Given the description of an element on the screen output the (x, y) to click on. 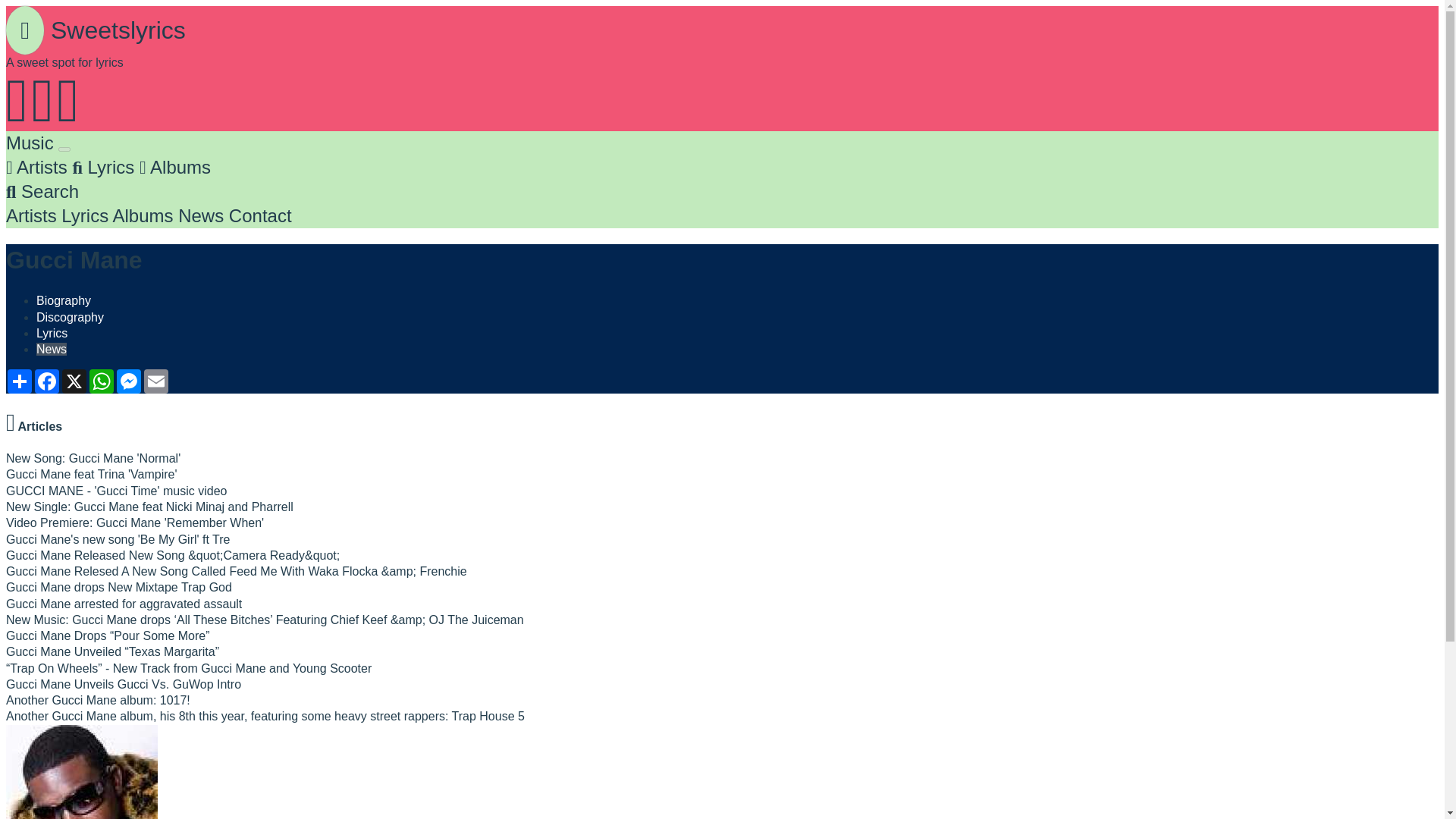
Sweetslyrics (95, 30)
Gucci Mane (81, 771)
Gucci Mane's new song 'Be My Girl' ft Tre (117, 538)
Messenger (128, 381)
Share on Whatsapp (101, 381)
Mail link (156, 381)
News (200, 215)
Gucci Mane Unveils Gucci Vs. GuWop Intro (123, 684)
Albums (142, 215)
Share on Facebook (47, 381)
Follow us on Instagram (67, 116)
Lyrics (102, 167)
WhatsApp (101, 381)
Search (41, 190)
New Single: Gucci Mane feat Nicki Minaj and Pharrell (149, 506)
